Given the description of an element on the screen output the (x, y) to click on. 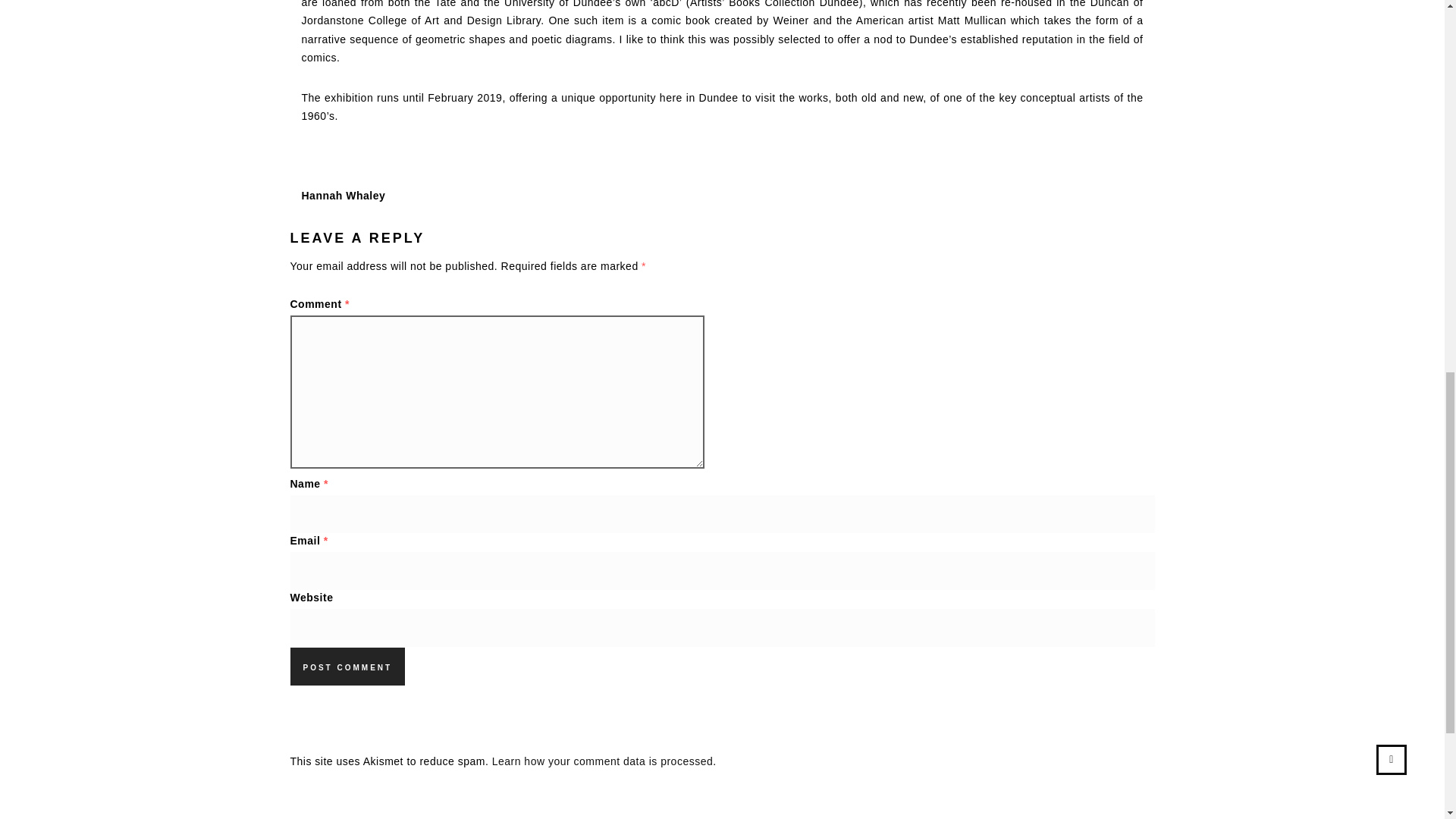
Learn how your comment data is processed (602, 761)
Post Comment (346, 666)
Post Comment (346, 666)
